Given the description of an element on the screen output the (x, y) to click on. 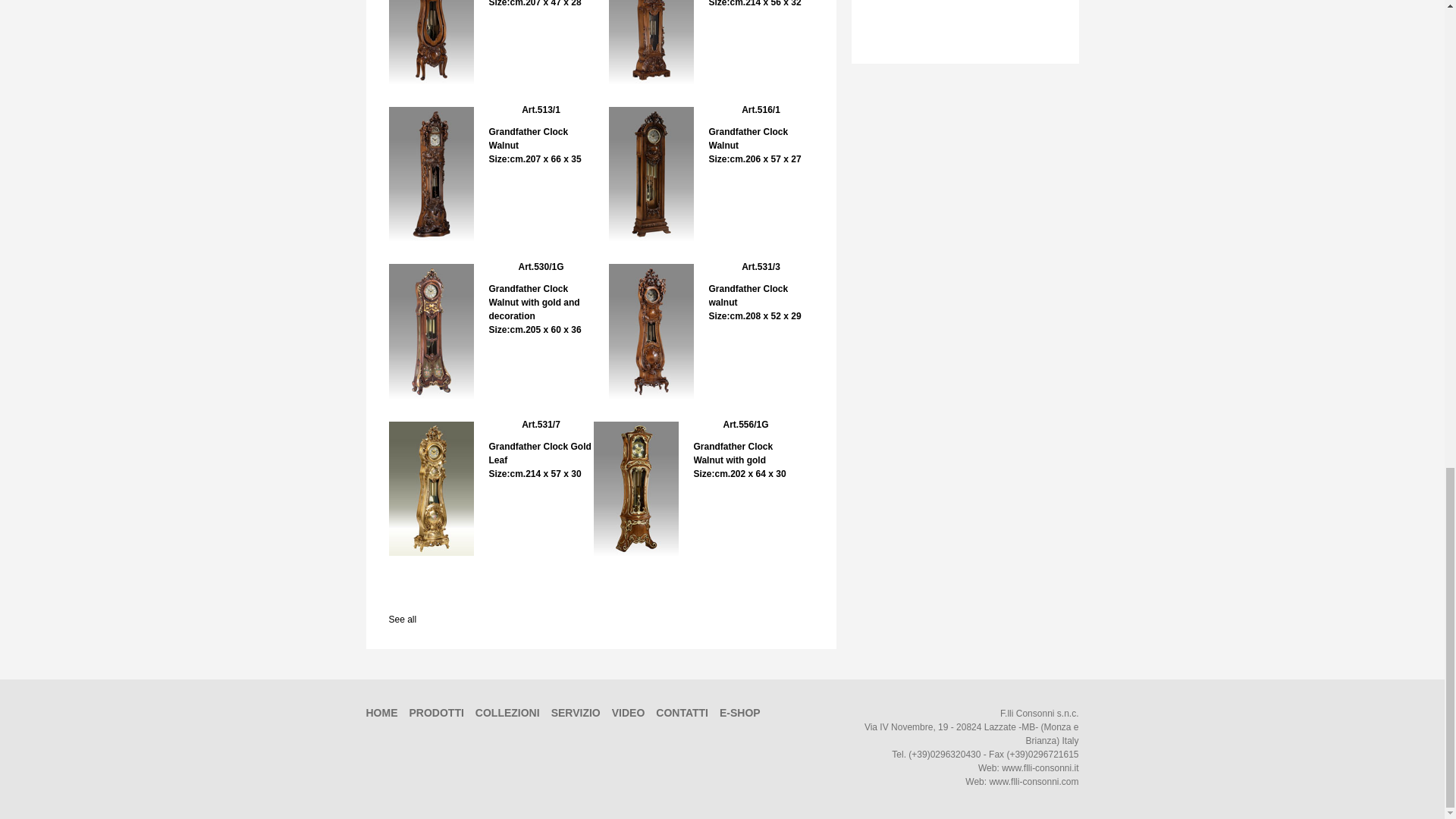
See all (753, 3)
